Given the description of an element on the screen output the (x, y) to click on. 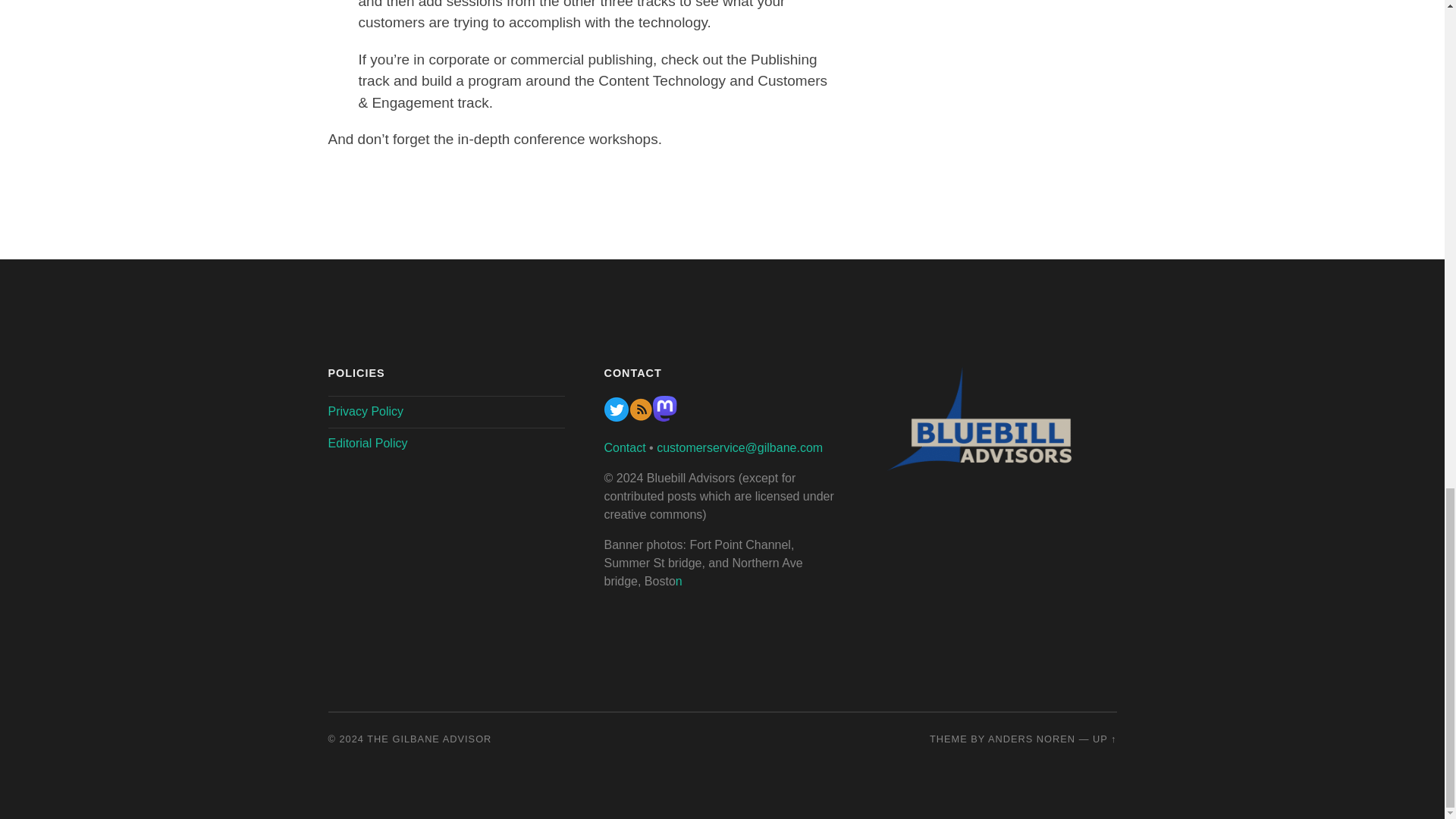
To the top (1104, 738)
Gilbane twitter feed (615, 417)
Mastadon-logo-purple-32x34 (664, 417)
